Given the description of an element on the screen output the (x, y) to click on. 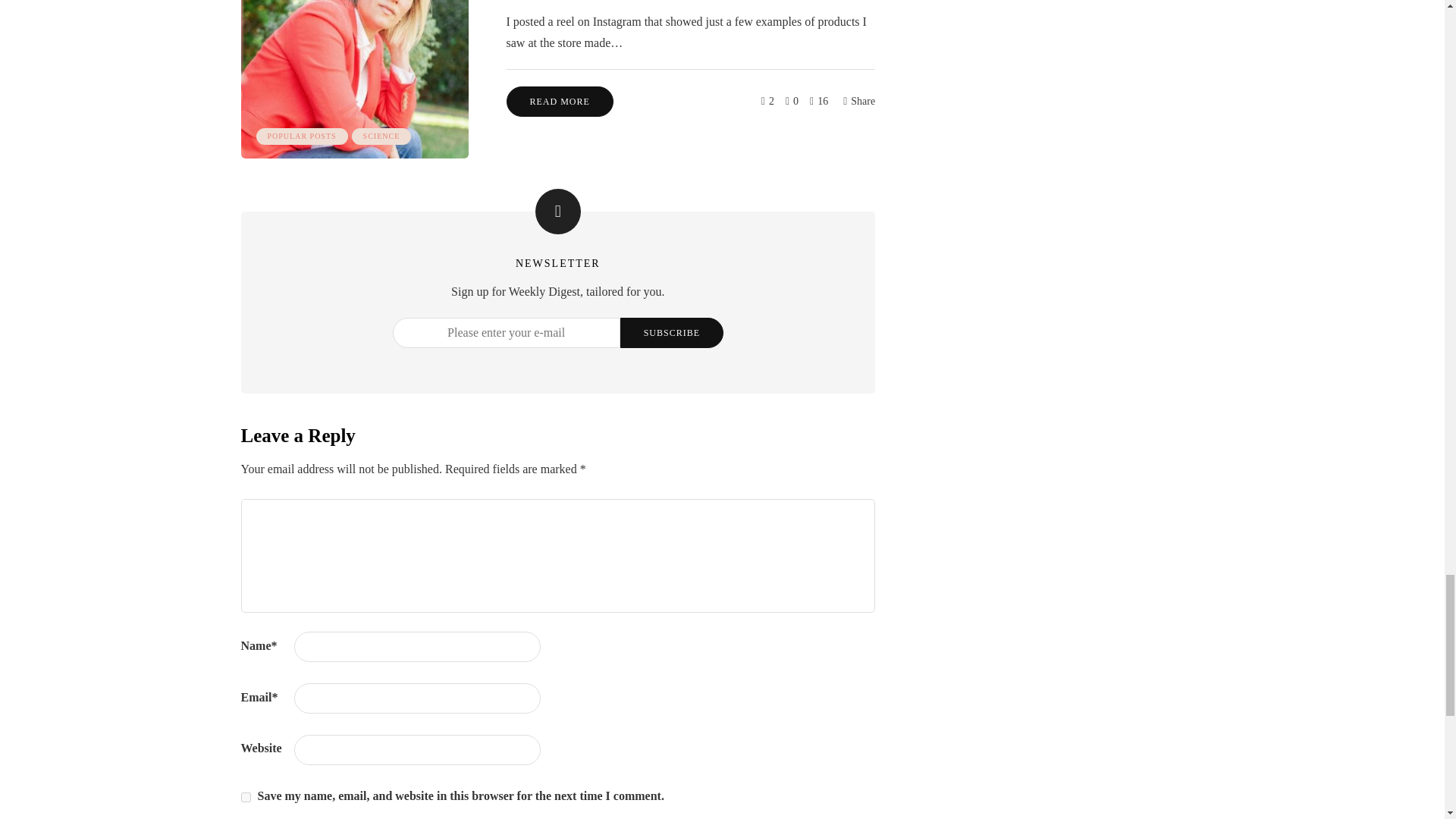
yes (245, 797)
